Given the description of an element on the screen output the (x, y) to click on. 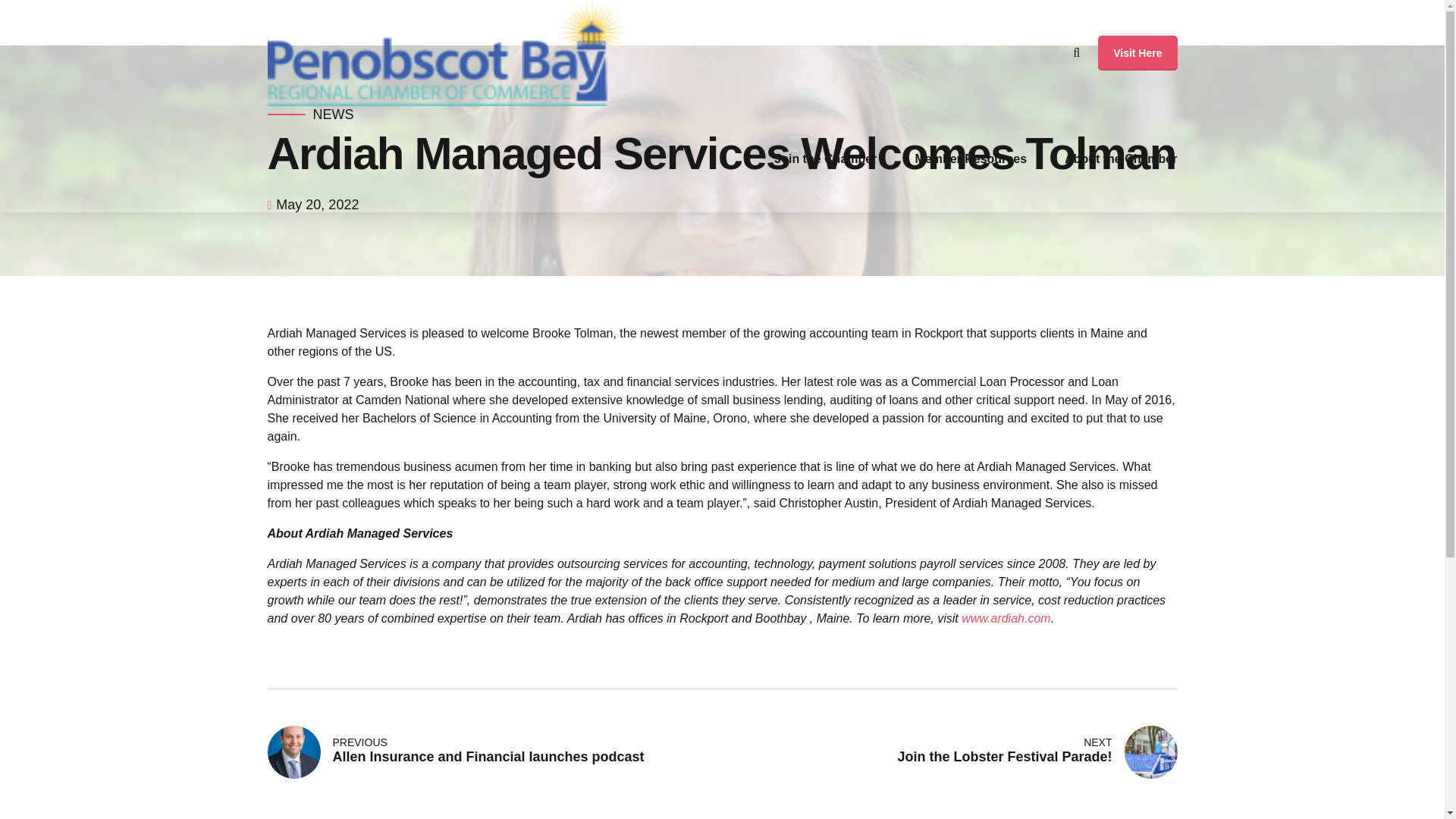
Join the Chamber (825, 159)
Member Resources (494, 751)
Visit Here (970, 159)
Search (1136, 53)
Visit Here (949, 751)
About the Chamber (1076, 52)
NEWS (1136, 53)
www.ardiah.com (1120, 159)
